Given the description of an element on the screen output the (x, y) to click on. 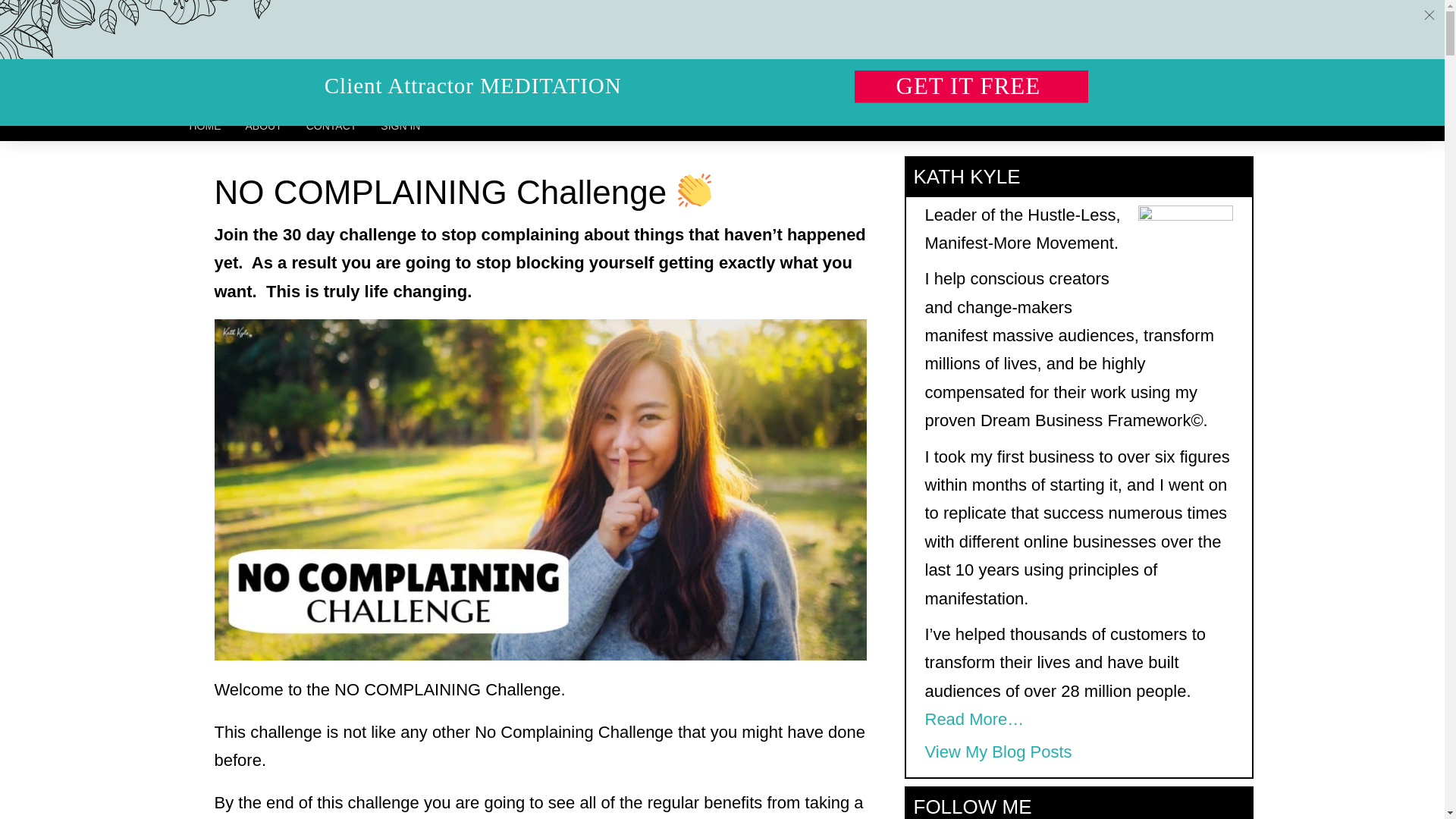
HOME (204, 125)
PRODUCTS (519, 92)
CONTACT (331, 125)
ABOUT (263, 125)
SIGN IN (400, 125)
PODCAST (722, 92)
RESOURCES (378, 92)
FREEBIES (241, 92)
BLOG (624, 92)
